Given the description of an element on the screen output the (x, y) to click on. 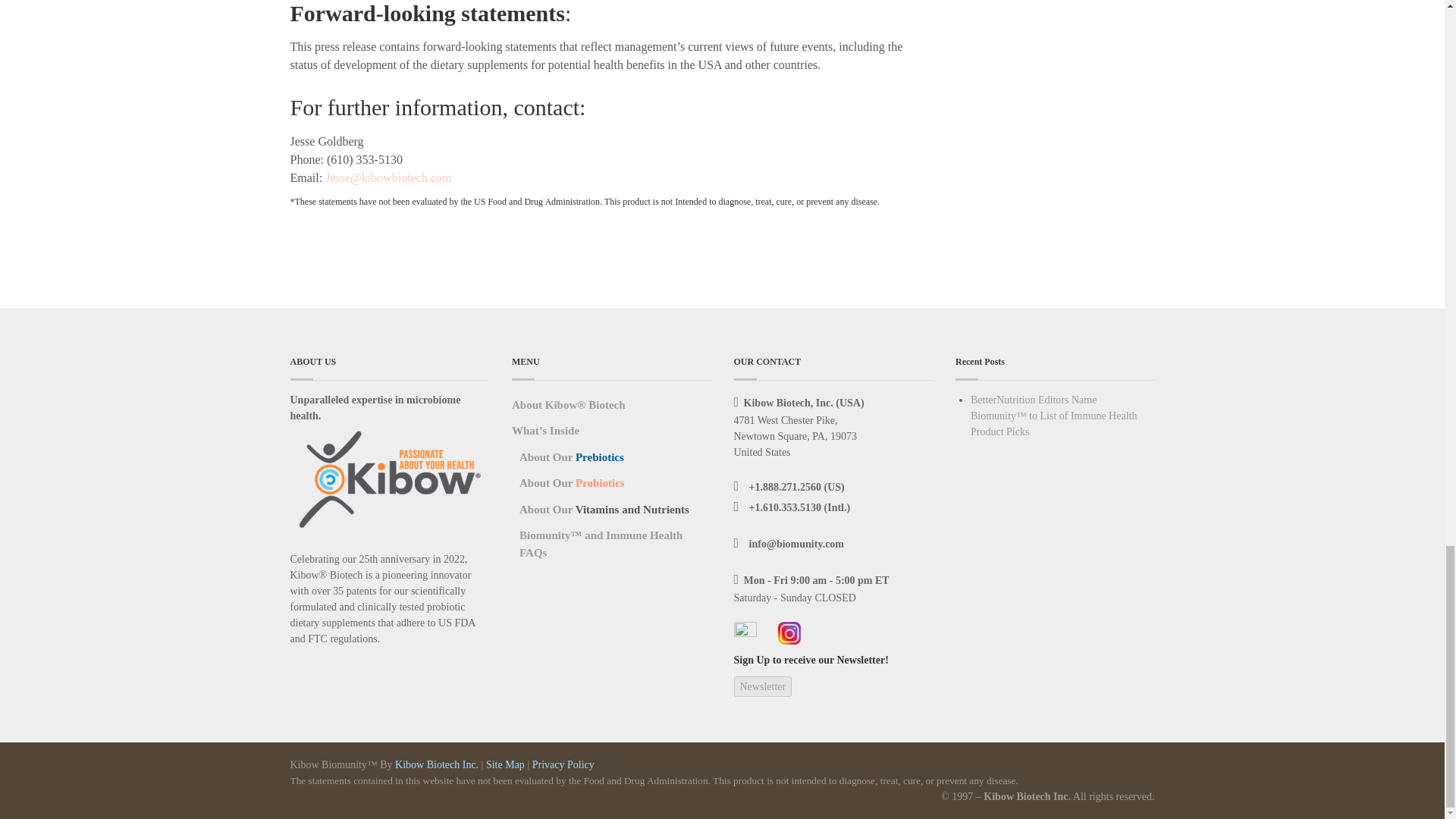
News Letter (762, 686)
